Given the description of an element on the screen output the (x, y) to click on. 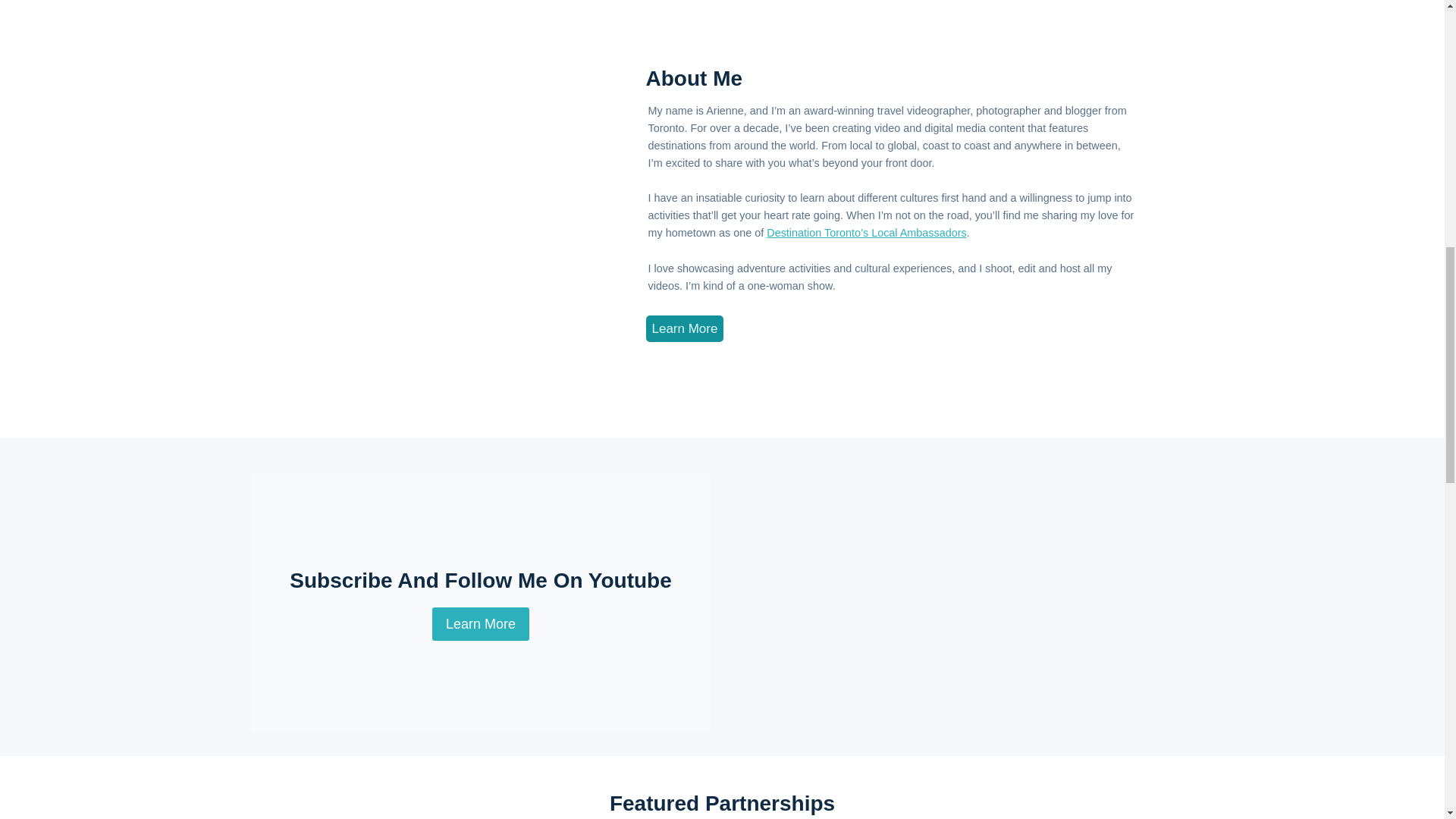
SeeYouSoon Travel - Channel Trailer! (962, 603)
